Given the description of an element on the screen output the (x, y) to click on. 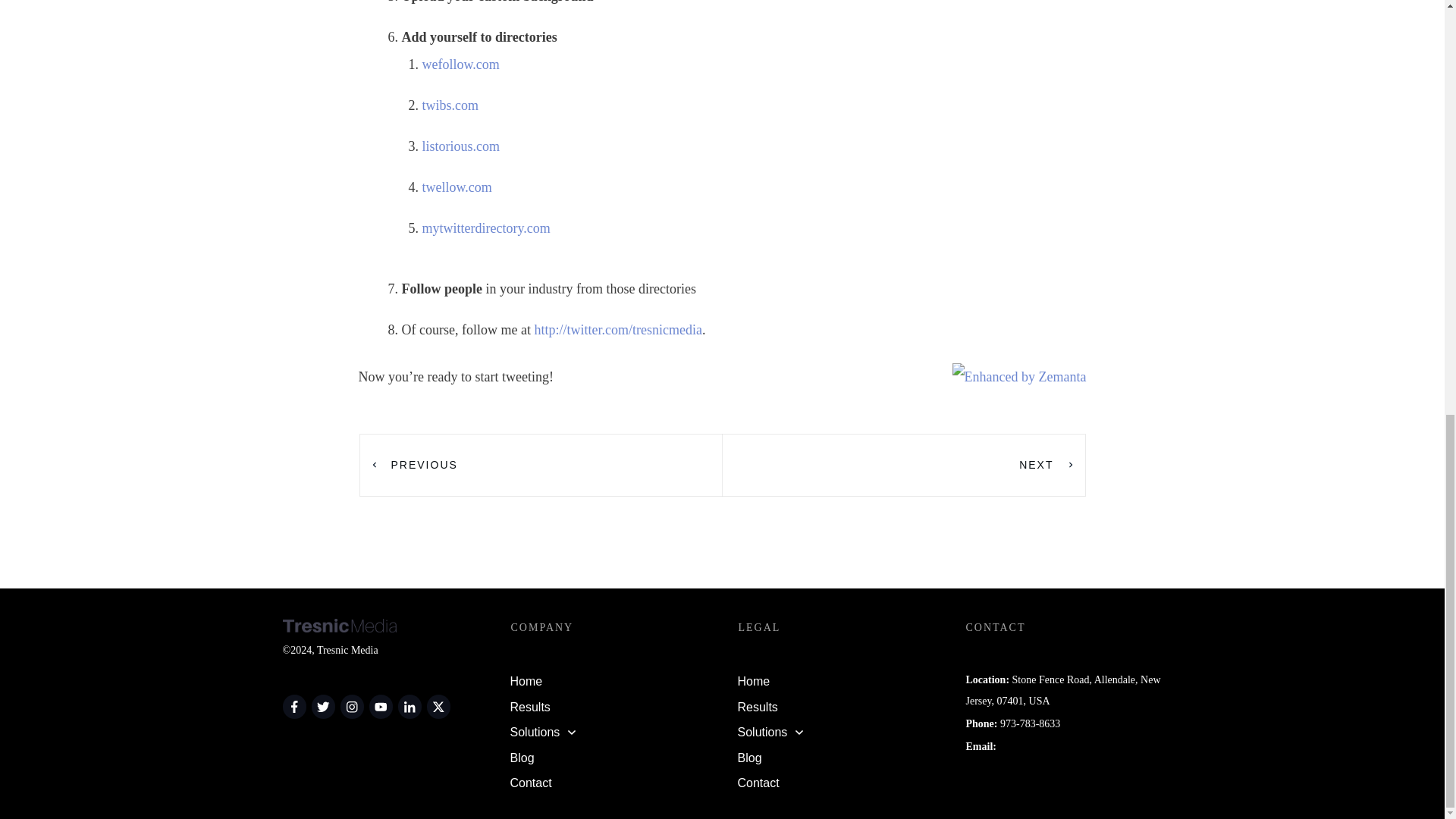
NEXT (1047, 464)
mytwitterdirectory.com (486, 227)
twibs.com (450, 105)
PREVIOUS (412, 464)
listorious.com (460, 145)
twellow.com (457, 186)
wefollow.com (460, 64)
